Given the description of an element on the screen output the (x, y) to click on. 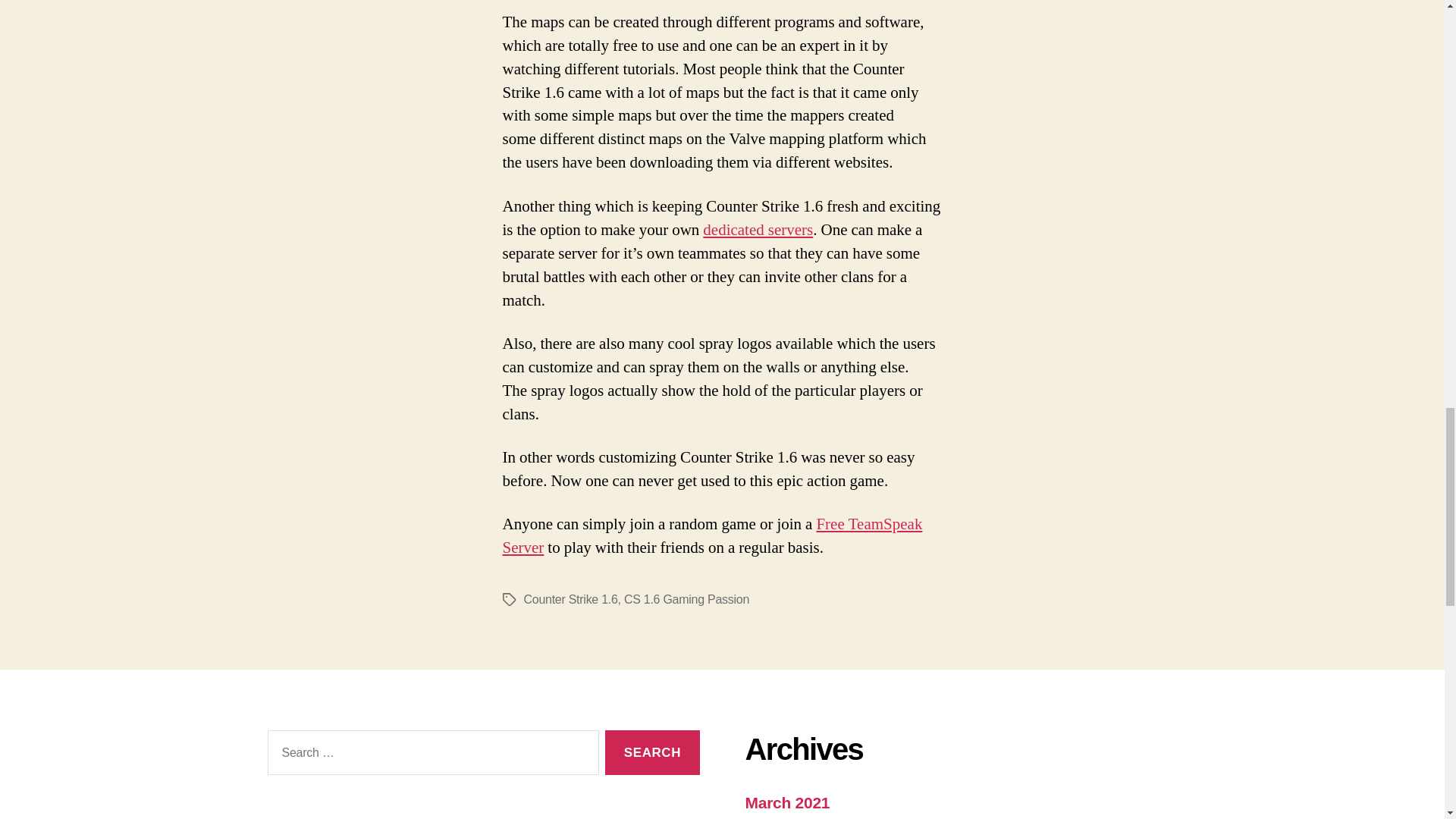
Counter Strike 1.6 (569, 599)
CS 1.6 Gaming Passion (686, 599)
Search (651, 752)
Search (651, 752)
Search (651, 752)
Free TeamSpeak Server (711, 535)
dedicated servers (757, 230)
